Given the description of an element on the screen output the (x, y) to click on. 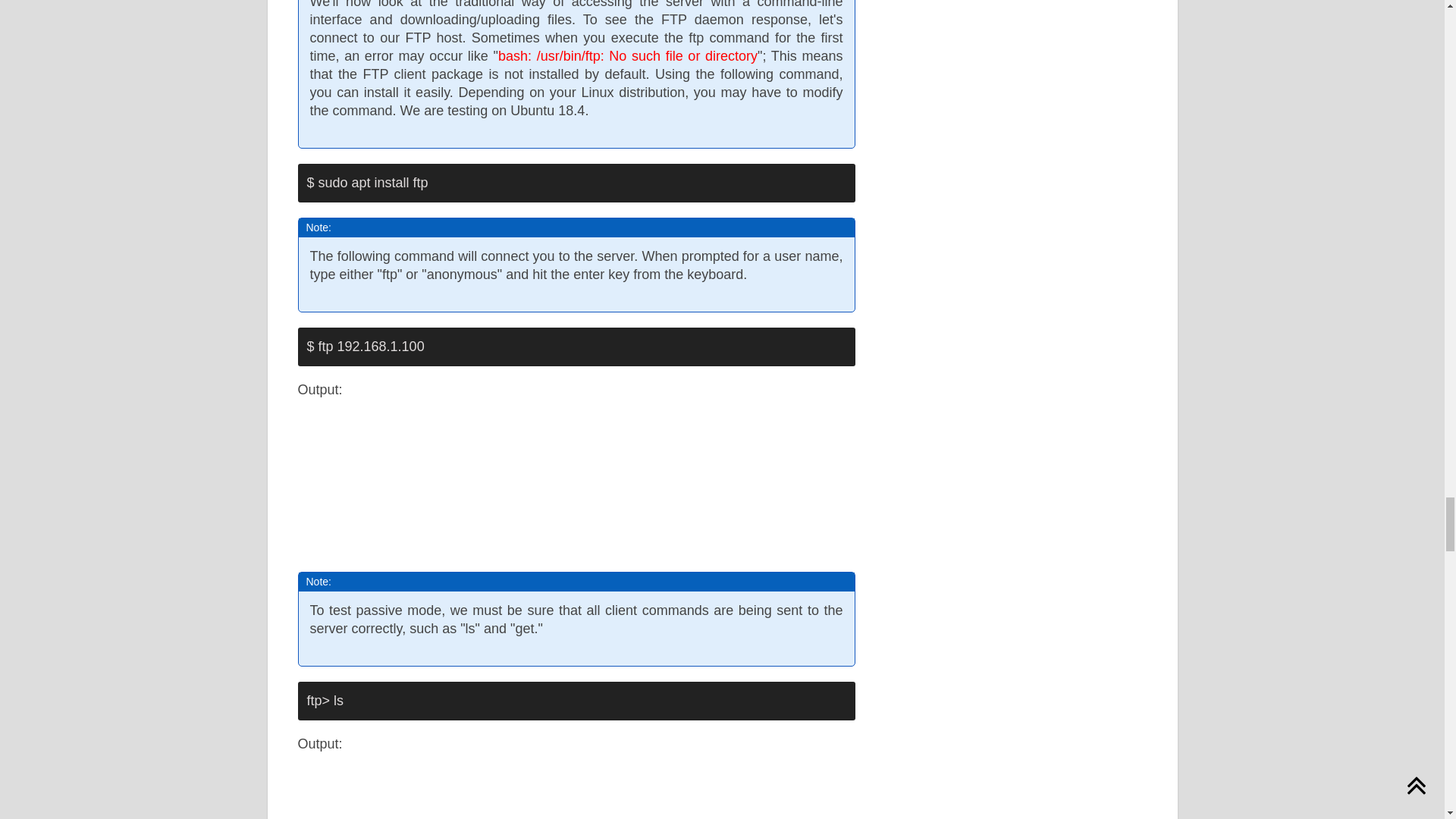
How to Set up Anonymous FTP in Rocky Linux 8.4 10 (538, 796)
How to Set up Anonymous FTP in Rocky Linux 8.4 9 (460, 482)
